Given the description of an element on the screen output the (x, y) to click on. 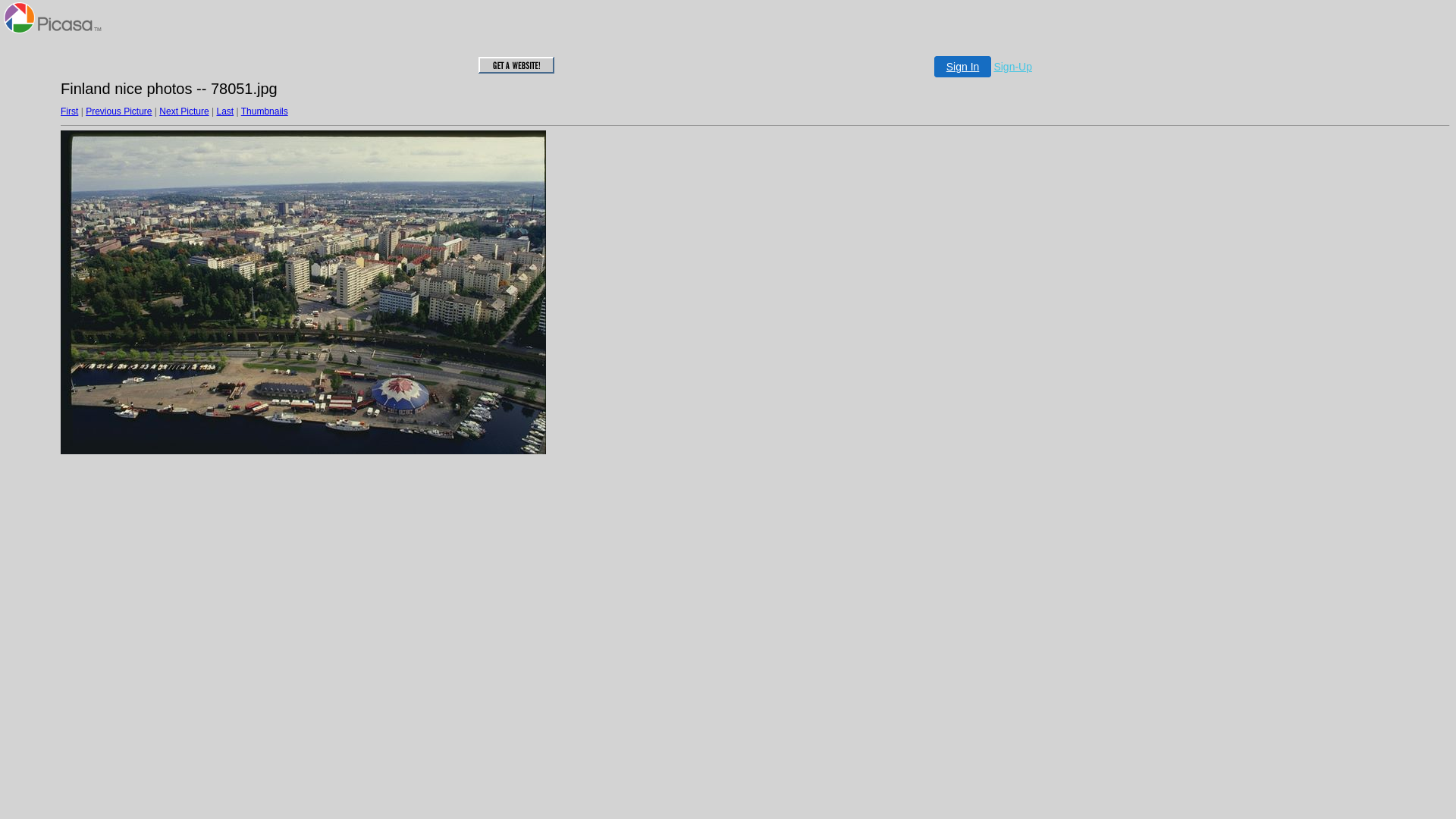
Thumbnails Element type: text (264, 111)
First Element type: text (69, 111)
Previous Picture Element type: text (118, 111)
78051.jpg (large) Element type: hover (303, 292)
Next Picture Element type: text (183, 111)
Sign-Up Element type: text (1012, 66)
Last Element type: text (224, 111)
Sign In Element type: text (962, 66)
